Given the description of an element on the screen output the (x, y) to click on. 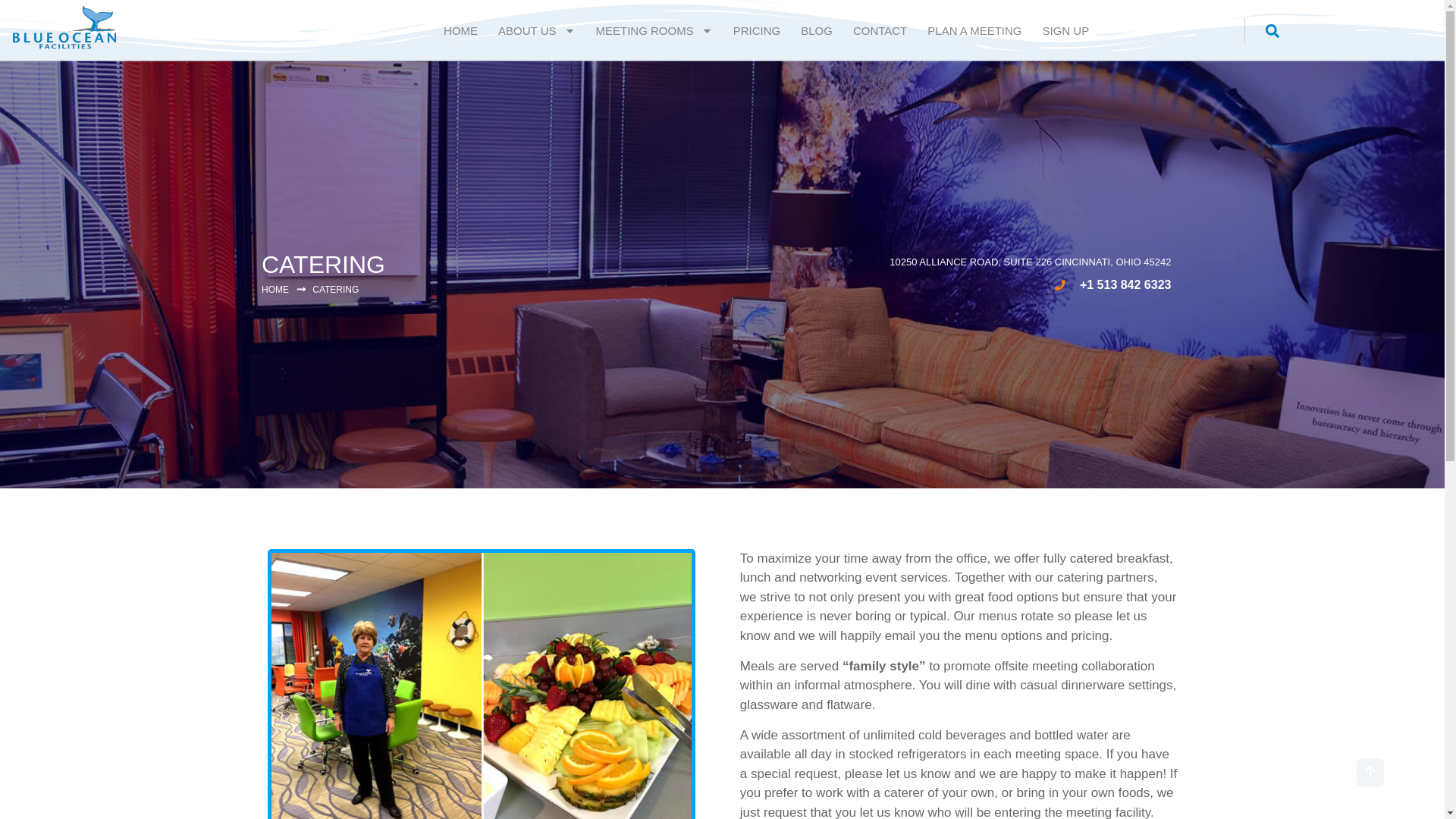
CONTACT (879, 30)
ABOUT US (536, 30)
MEETING ROOMS (654, 30)
BLOG (816, 30)
SIGN UP (1065, 30)
HOME (460, 30)
PLAN A MEETING (973, 30)
PRICING (757, 30)
